Given the description of an element on the screen output the (x, y) to click on. 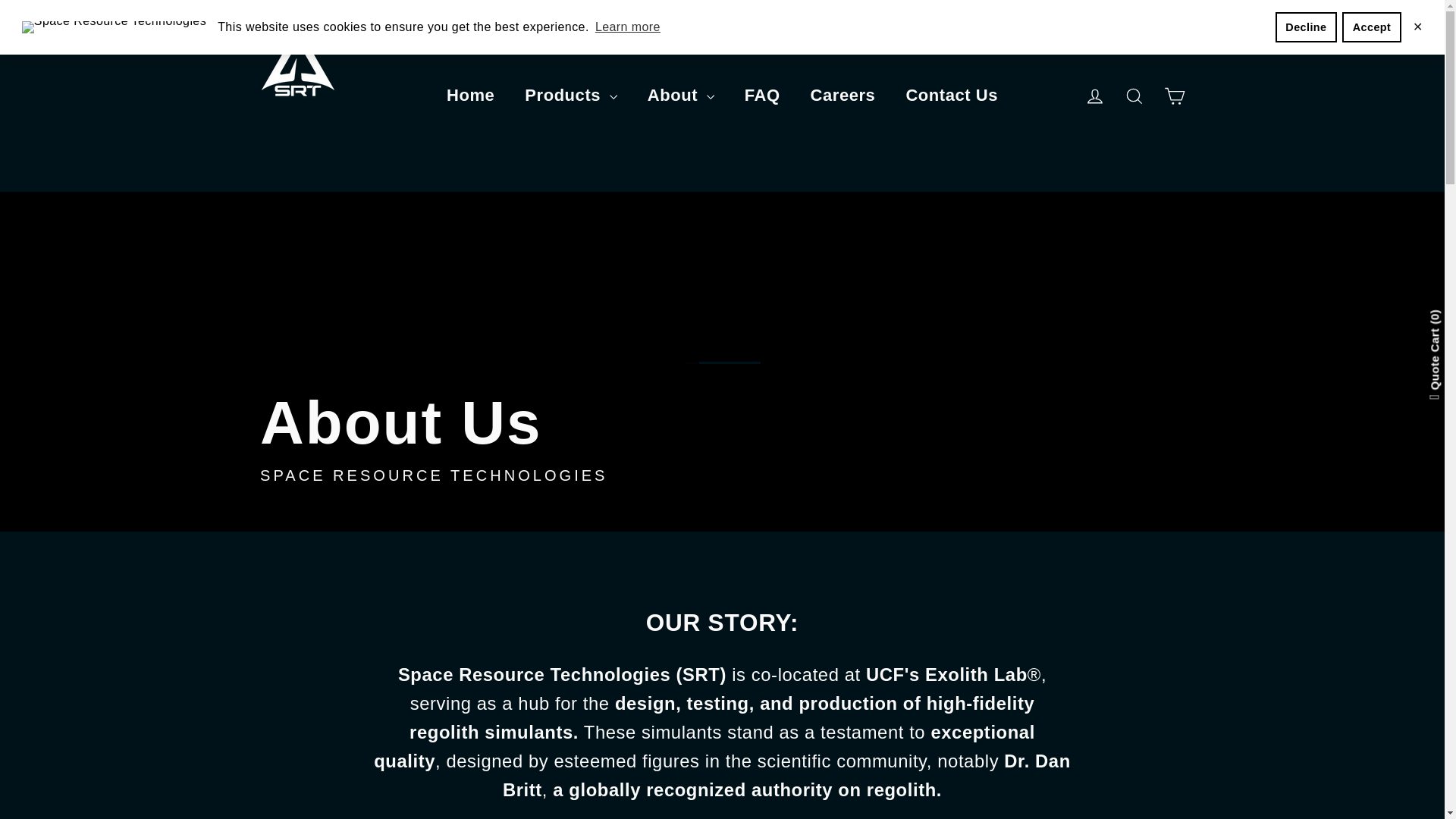
About (680, 95)
Home (469, 95)
Products (570, 95)
Decline (1305, 27)
Learn more (627, 26)
FAQ (761, 95)
Accept (1371, 27)
